Given the description of an element on the screen output the (x, y) to click on. 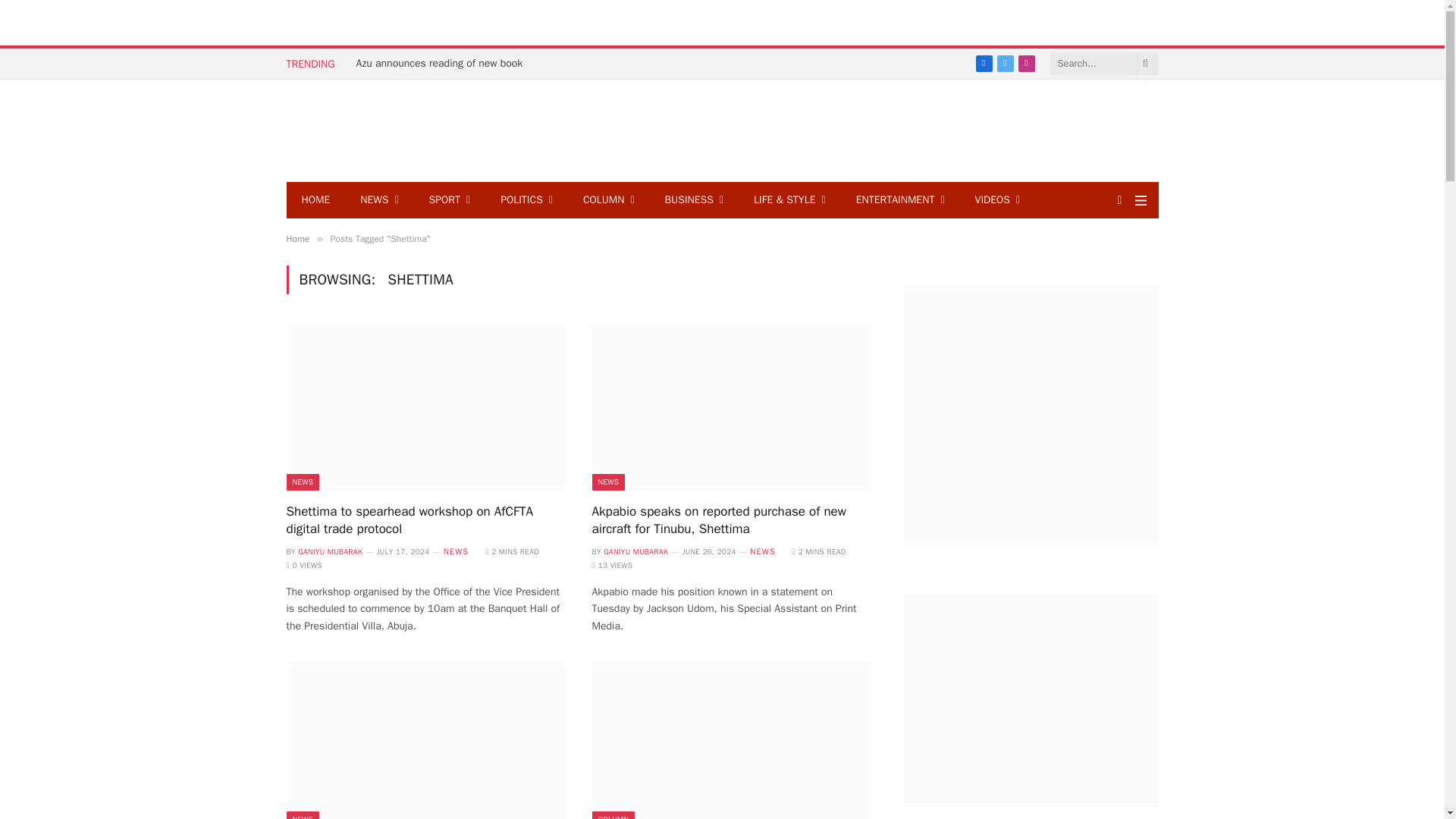
Facebook (983, 63)
Twitter (1004, 63)
The Eagle Online (377, 130)
NEWS (379, 199)
Instagram (1025, 63)
HOME (316, 199)
Azu announces reading of new book (443, 63)
